Given the description of an element on the screen output the (x, y) to click on. 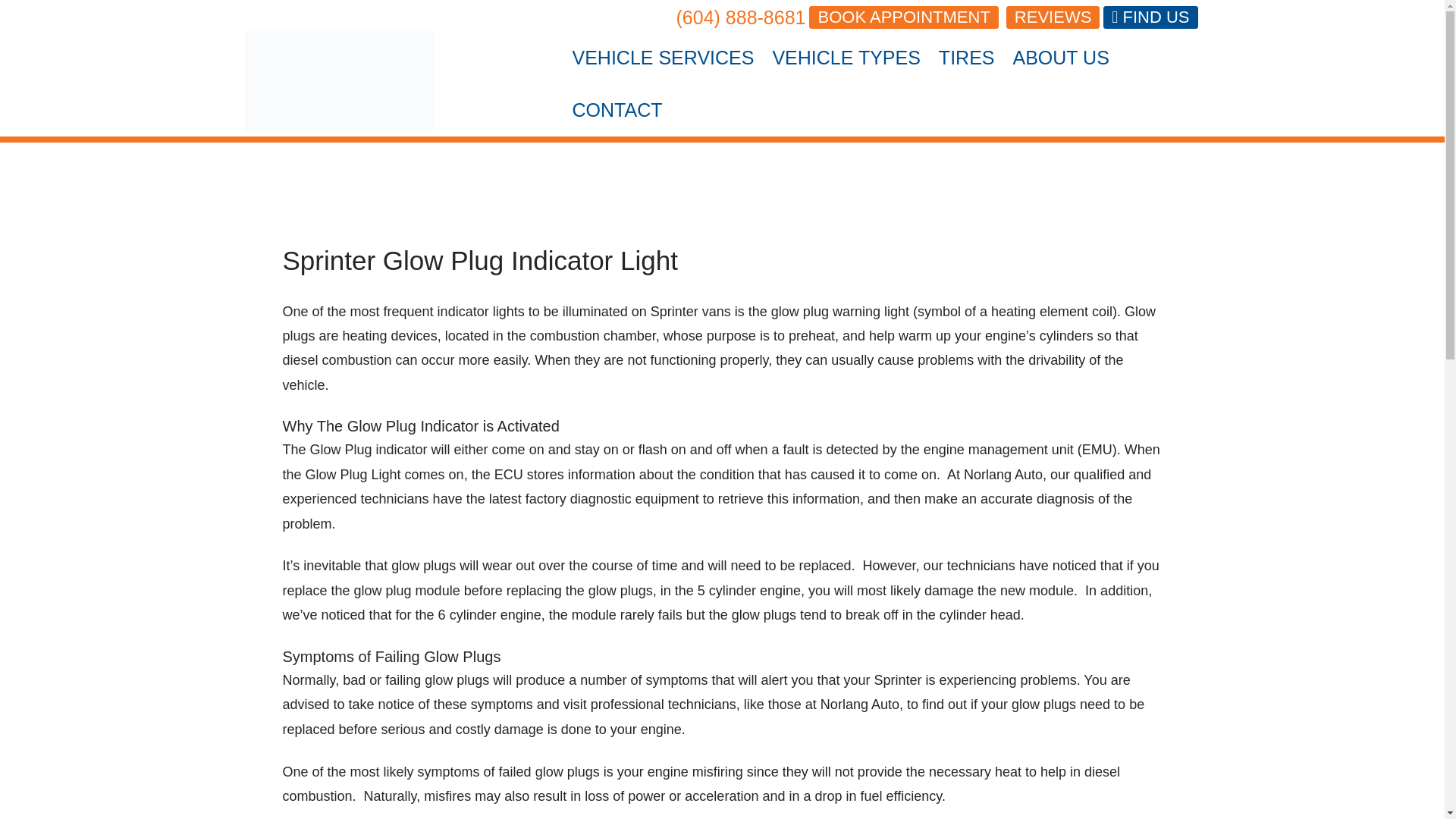
REVIEWS (1053, 16)
BOOK APPOINTMENT (903, 16)
VEHICLE TYPES (845, 57)
REVIEWS (1052, 16)
FIND US (1149, 16)
VEHICLE SERVICES (663, 57)
